Given the description of an element on the screen output the (x, y) to click on. 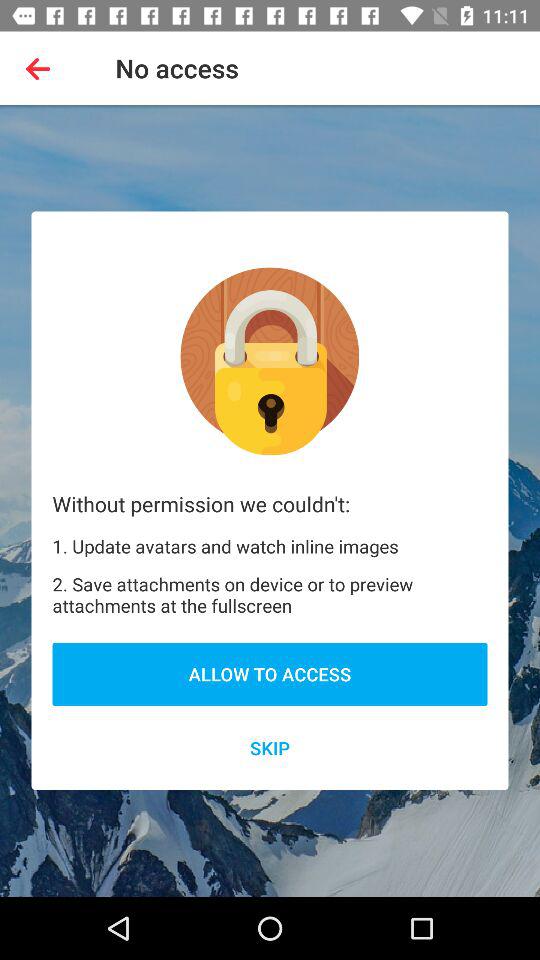
turn off item below allow to access item (269, 747)
